Given the description of an element on the screen output the (x, y) to click on. 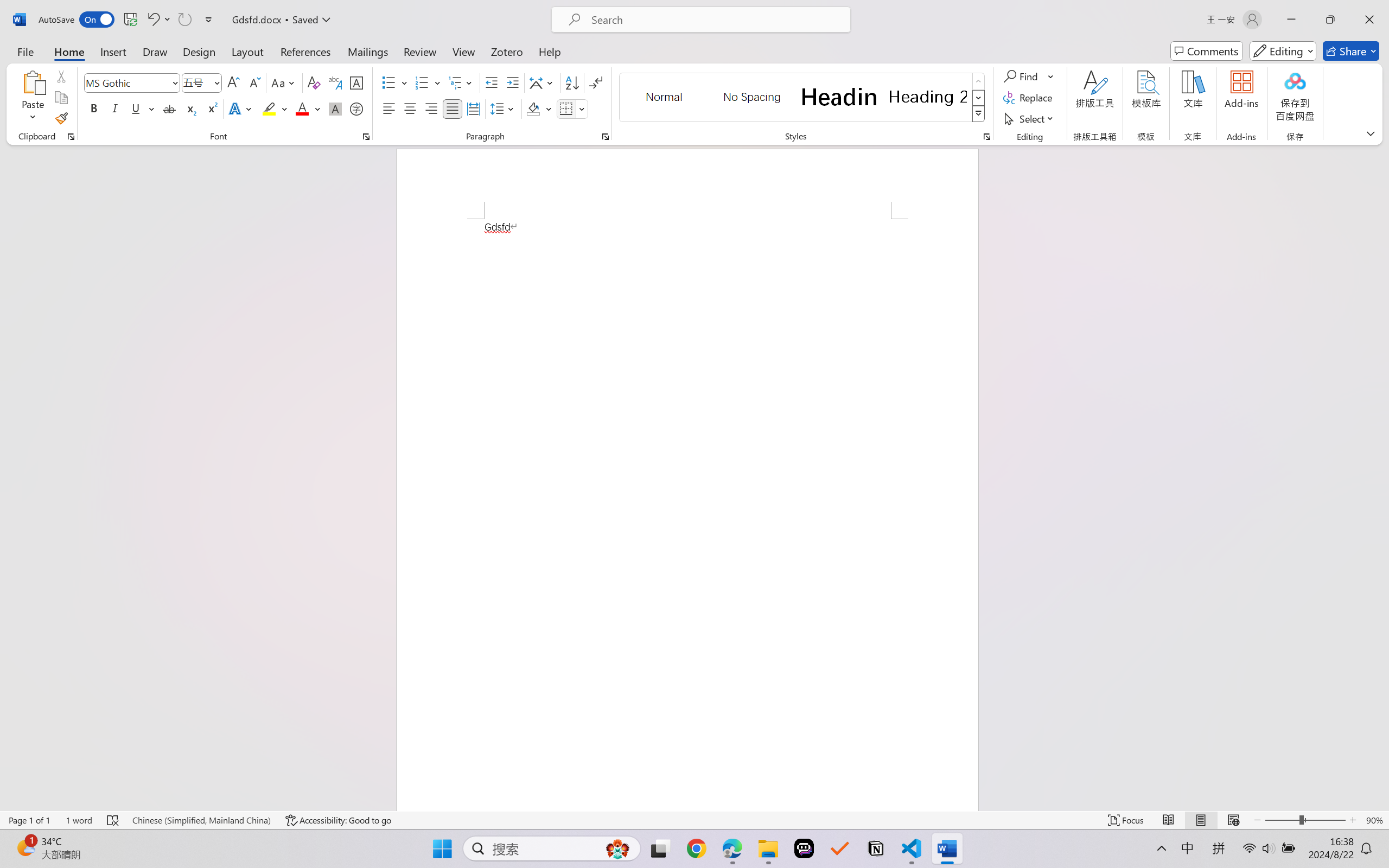
Page 1 content (687, 514)
Zoom 90% (1374, 819)
Replace... (1029, 97)
